Given the description of an element on the screen output the (x, y) to click on. 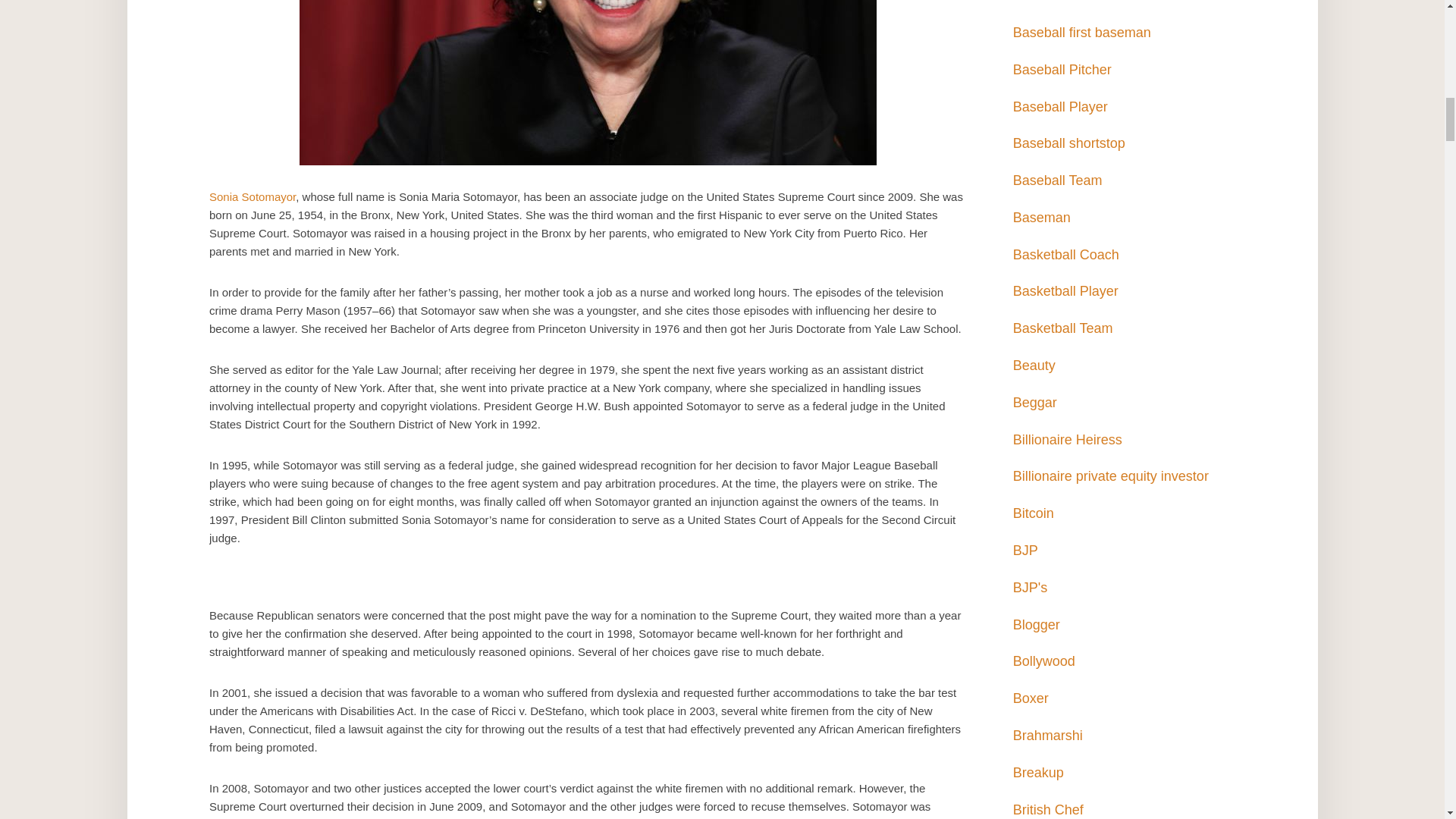
Sonia Sotomayor (252, 196)
